Given the description of an element on the screen output the (x, y) to click on. 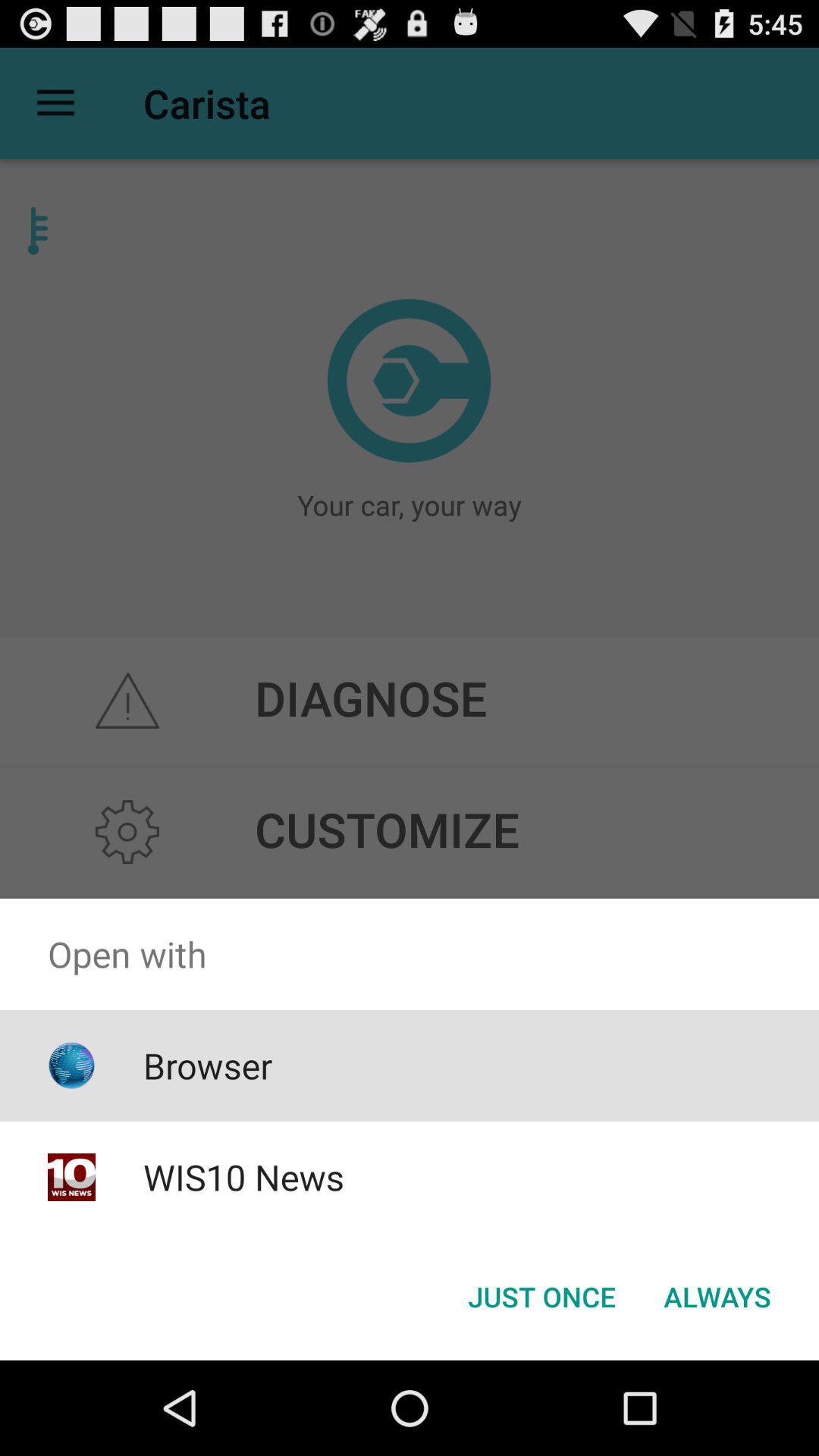
press the icon below browser app (243, 1176)
